Given the description of an element on the screen output the (x, y) to click on. 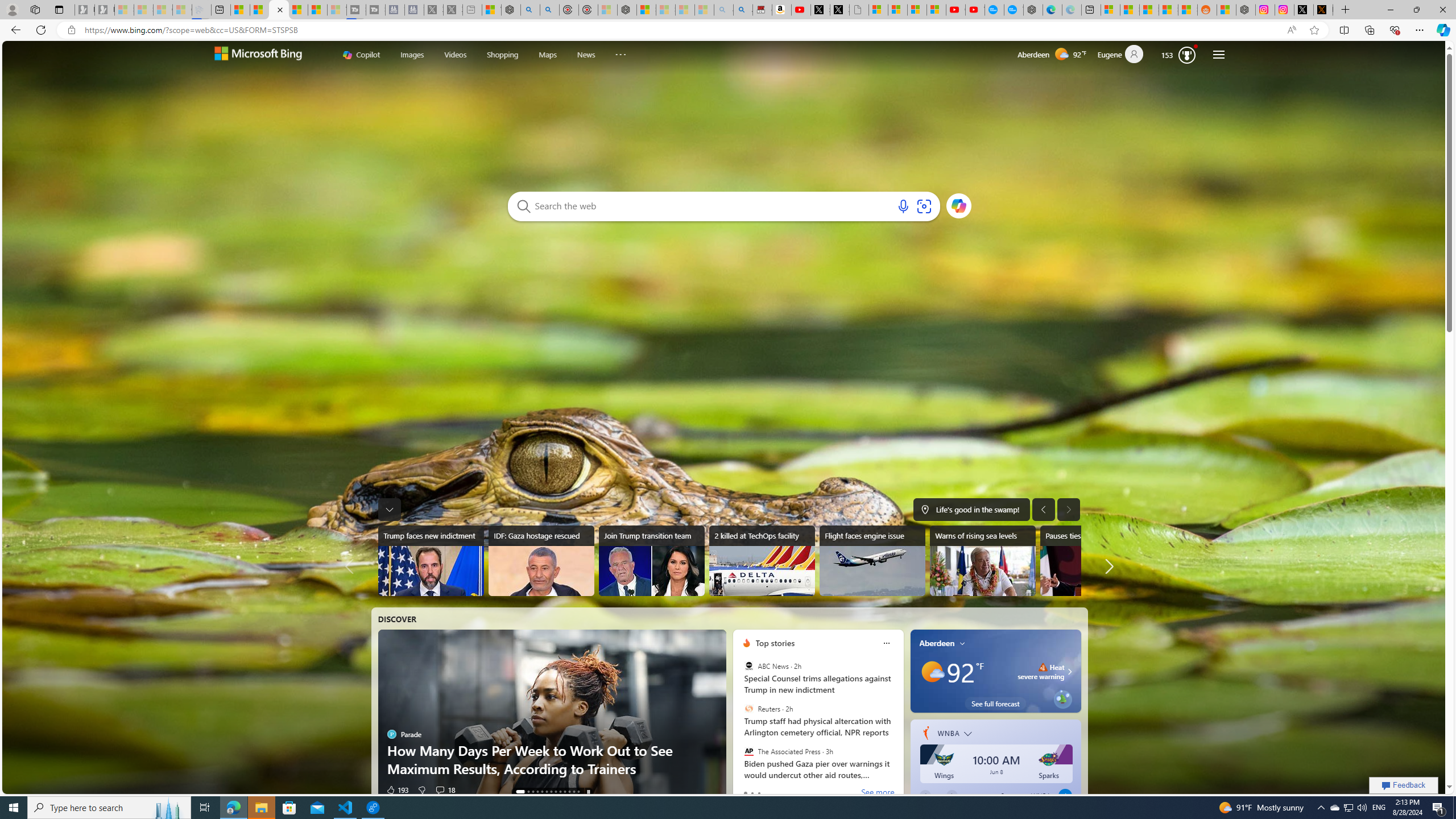
The most popular Google 'how to' searches (1012, 9)
To get missing image descriptions, open the context menu. (746, 642)
Life's good in the swamp! (970, 508)
Shopping (502, 54)
News (585, 54)
The Associated Press (749, 750)
Nordace - Nordace Siena Is Not An Ordinary Backpack (627, 9)
Class: eplant-img (1062, 697)
tab-2 (758, 793)
AutomationID: tab-6 (550, 791)
AutomationID: tab-7 (555, 791)
Bing (279, 9)
Address and search bar (680, 29)
IDF: Gaza hostage rescued (540, 560)
